Given the description of an element on the screen output the (x, y) to click on. 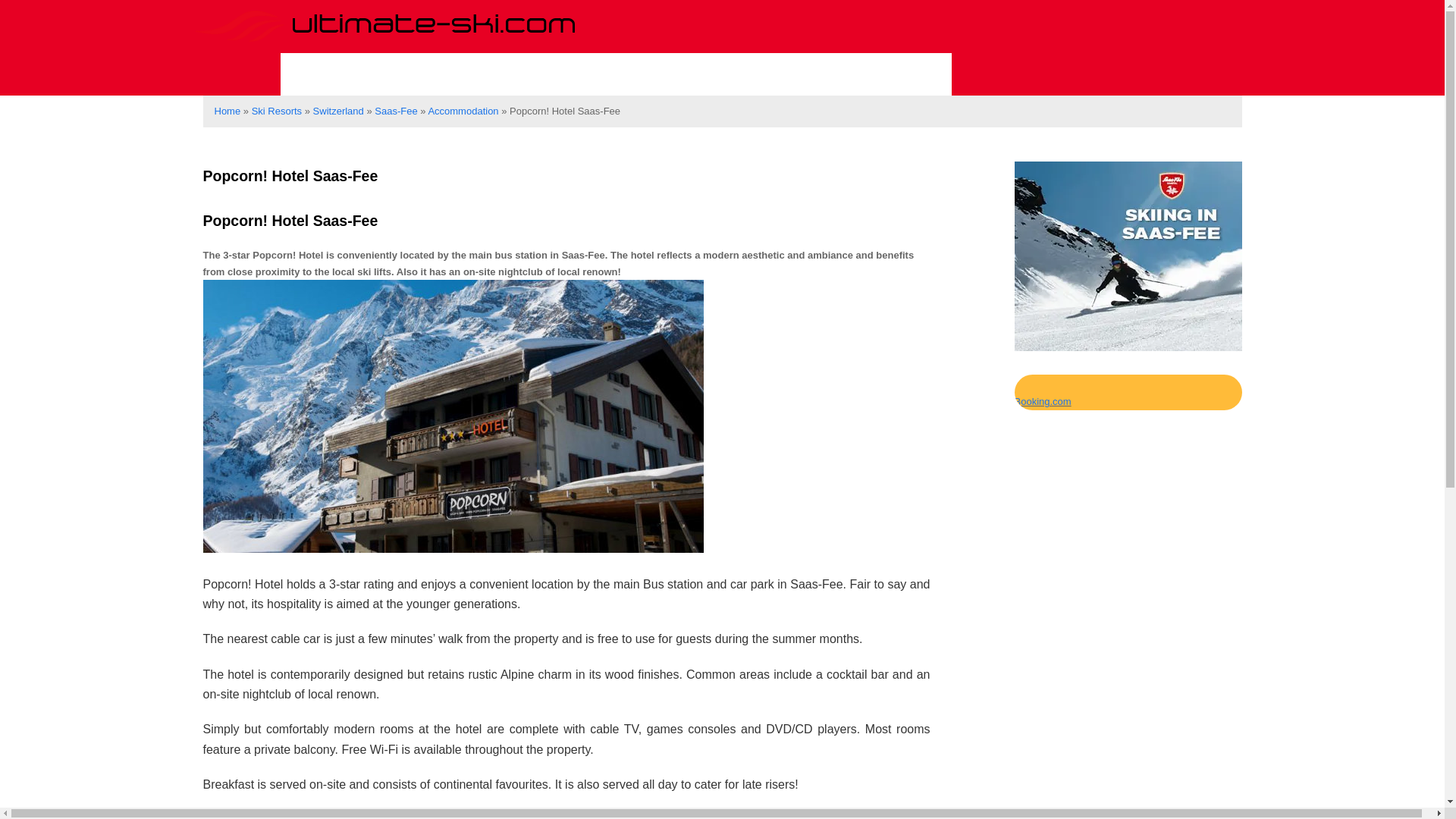
Saas-Fee (395, 111)
Home (227, 111)
Features (729, 74)
Accommodation (462, 111)
Booking.com (1042, 401)
Switzerland (338, 111)
Ski Rental (615, 74)
Accommodation (867, 74)
Ski Lessons (489, 74)
Ski Resorts (276, 111)
Ski Resorts (351, 74)
